Given the description of an element on the screen output the (x, y) to click on. 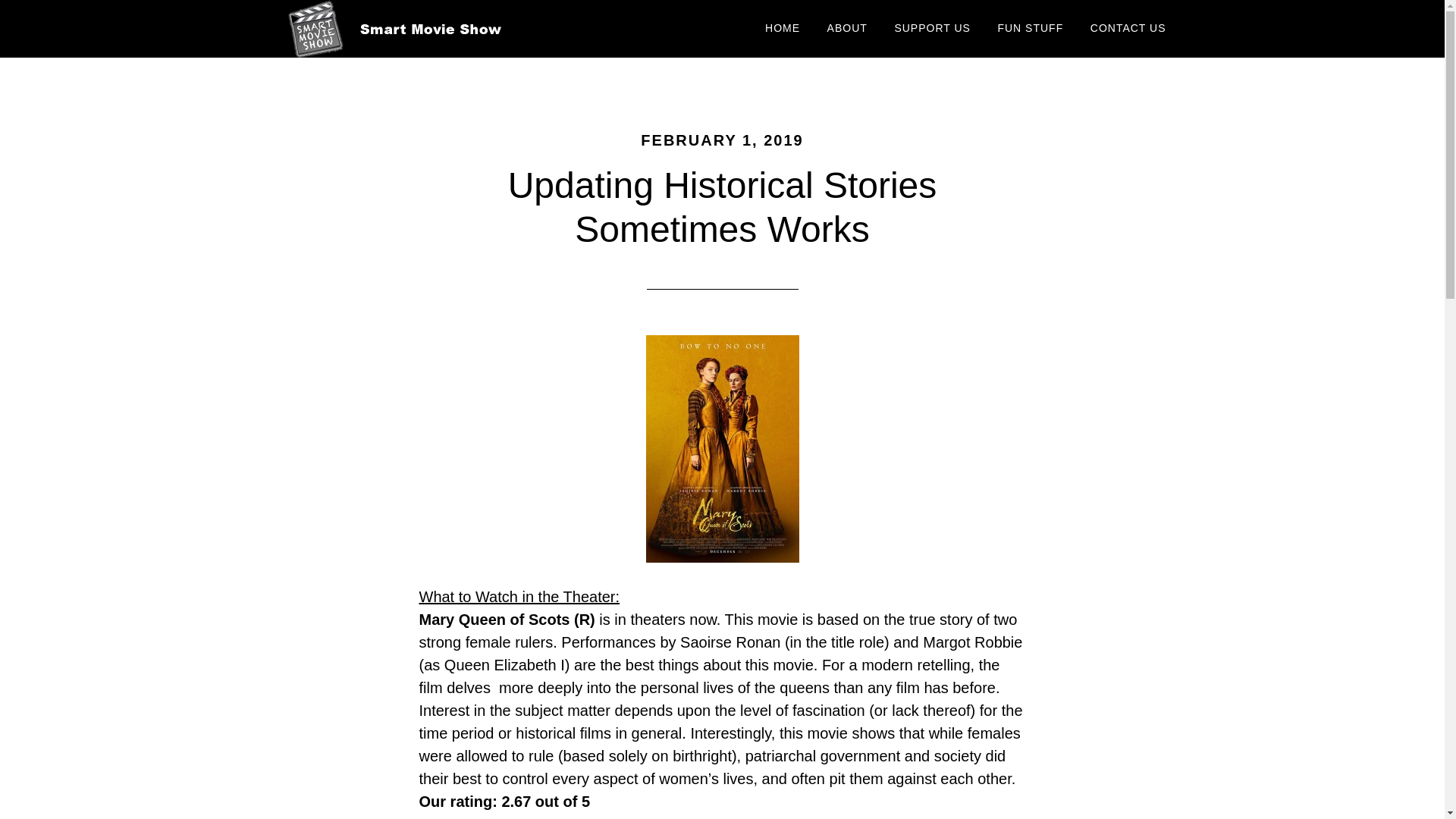
SUPPORT US (931, 28)
CONTACT US (1127, 28)
HOME (782, 28)
FUN STUFF (1029, 28)
ABOUT (847, 28)
SMART MOVIE SHOW (403, 28)
